Given the description of an element on the screen output the (x, y) to click on. 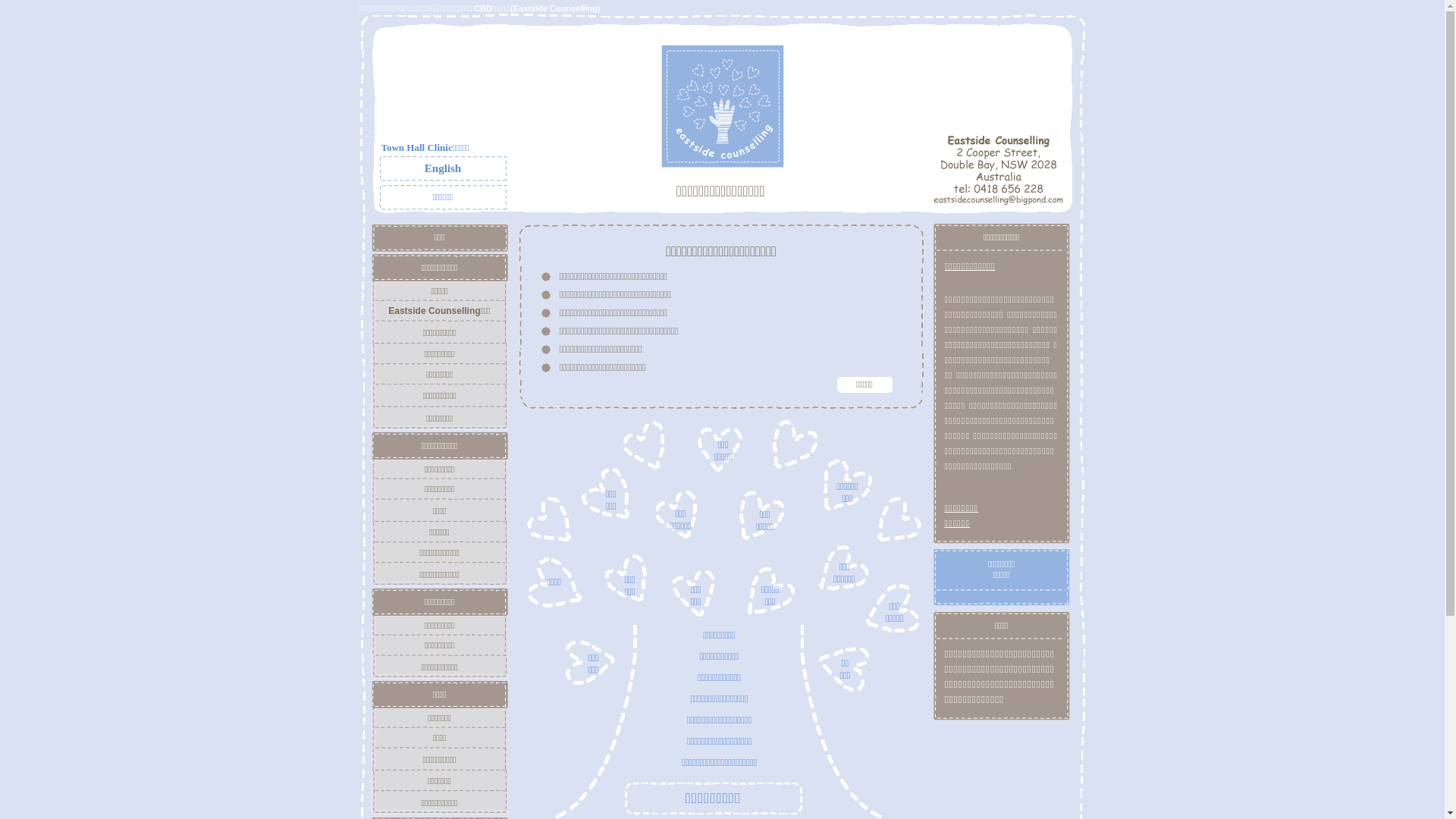
English Element type: text (442, 168)
  Element type: text (946, 481)
